Given the description of an element on the screen output the (x, y) to click on. 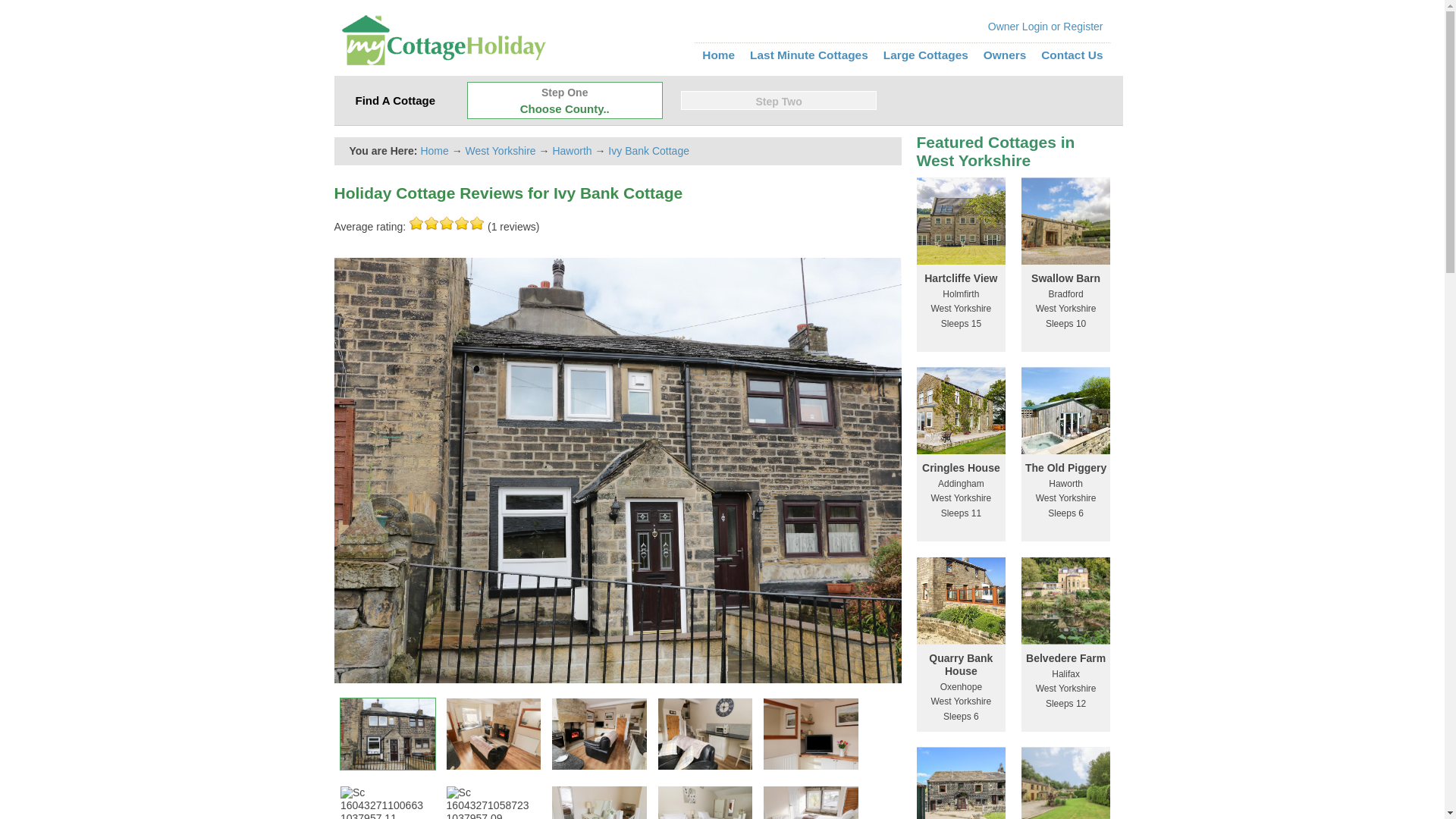
Haworth (571, 150)
Ivy Bank Cottage (648, 150)
Owner Login or Register (1045, 26)
Large Cottages (925, 54)
Contact Us (1071, 54)
West Yorkshire (500, 150)
Choose County.. (564, 108)
Home (434, 150)
Owners (1005, 54)
Last Minute Cottages (808, 54)
Home (718, 54)
Last Minute Cottages (808, 54)
Large Cottages (925, 54)
